Given the description of an element on the screen output the (x, y) to click on. 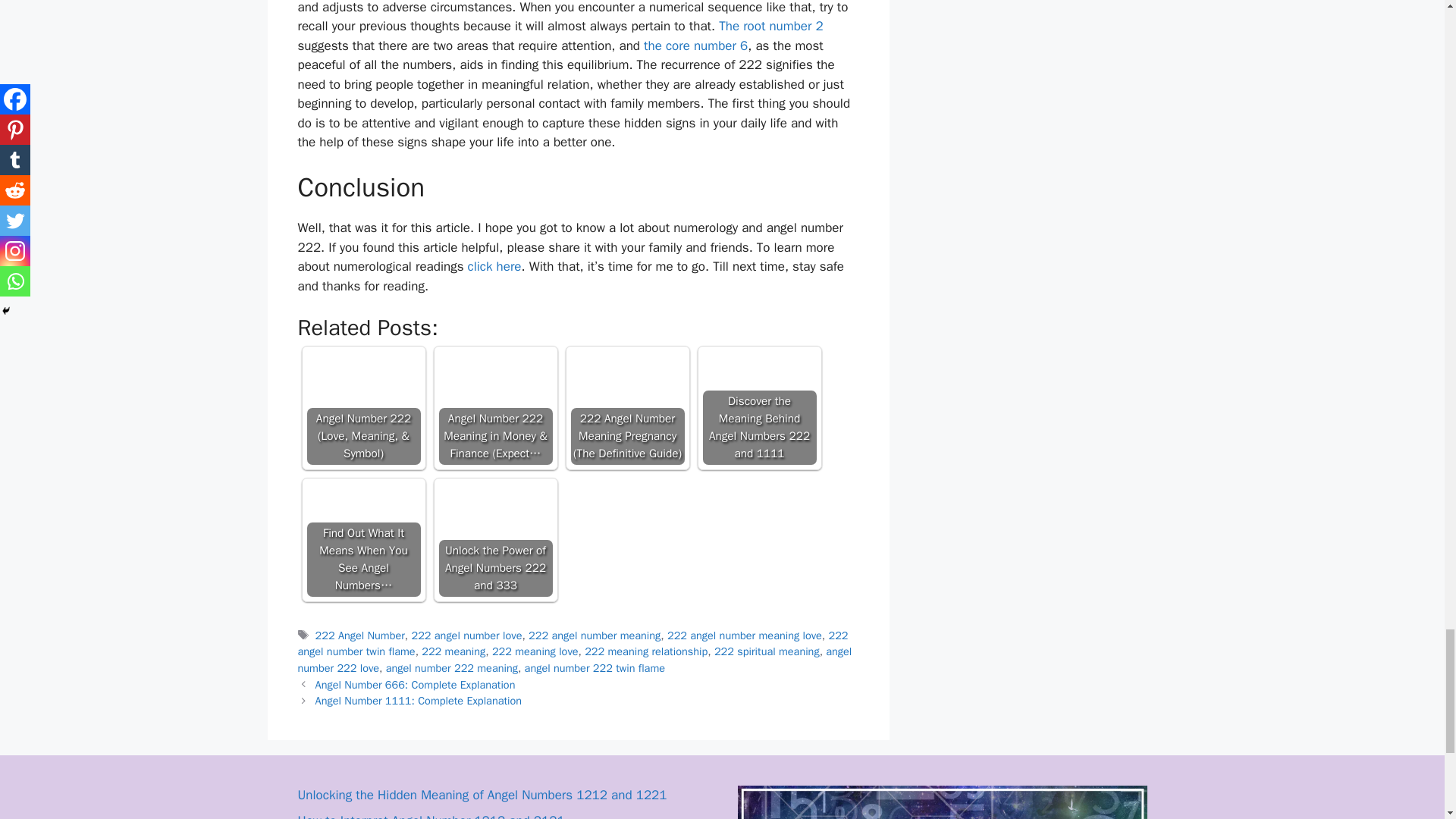
the core number 6 (695, 45)
The root number 2 (771, 26)
click here (494, 266)
